Given the description of an element on the screen output the (x, y) to click on. 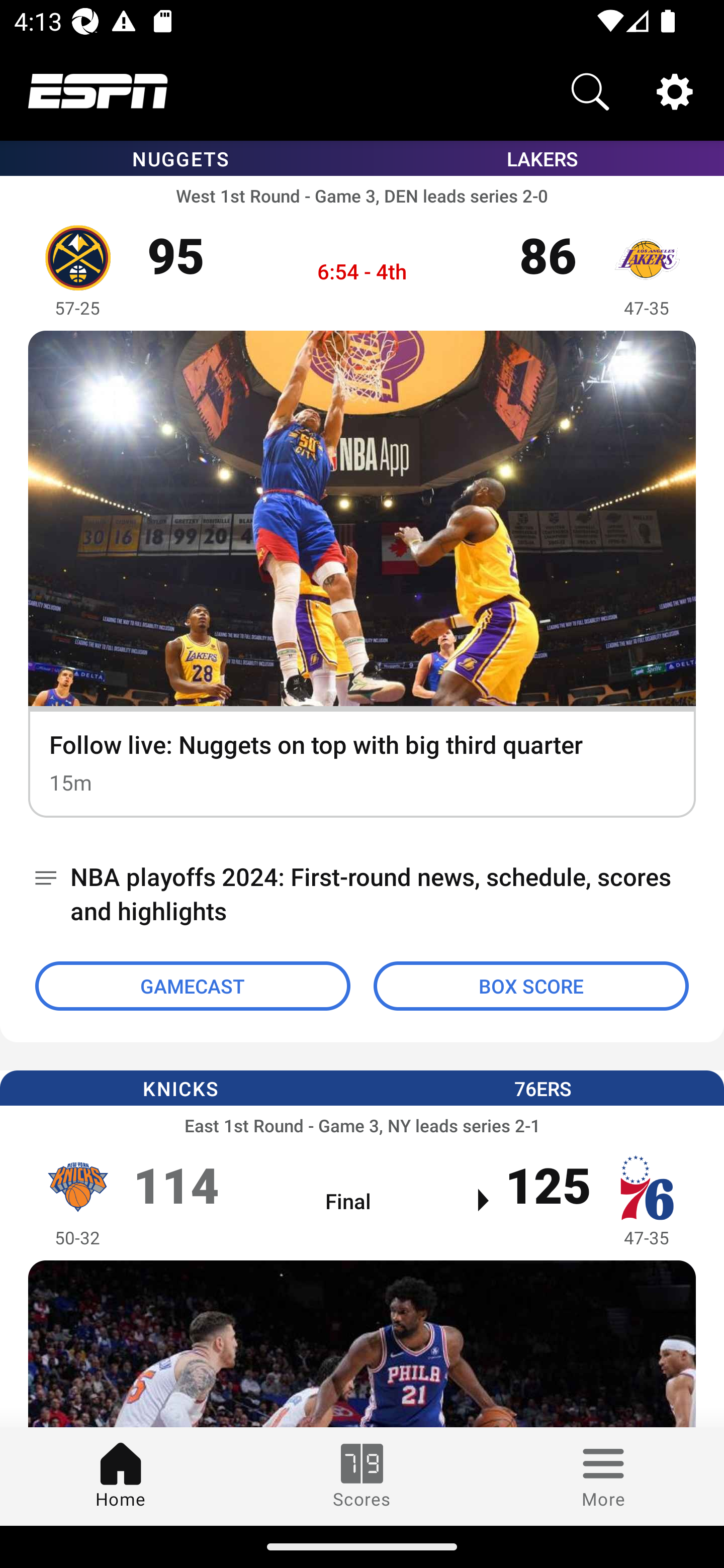
Search (590, 90)
Settings (674, 90)
GAMECAST (192, 986)
BOX SCORE (530, 986)
Scores (361, 1475)
More (603, 1475)
